Given the description of an element on the screen output the (x, y) to click on. 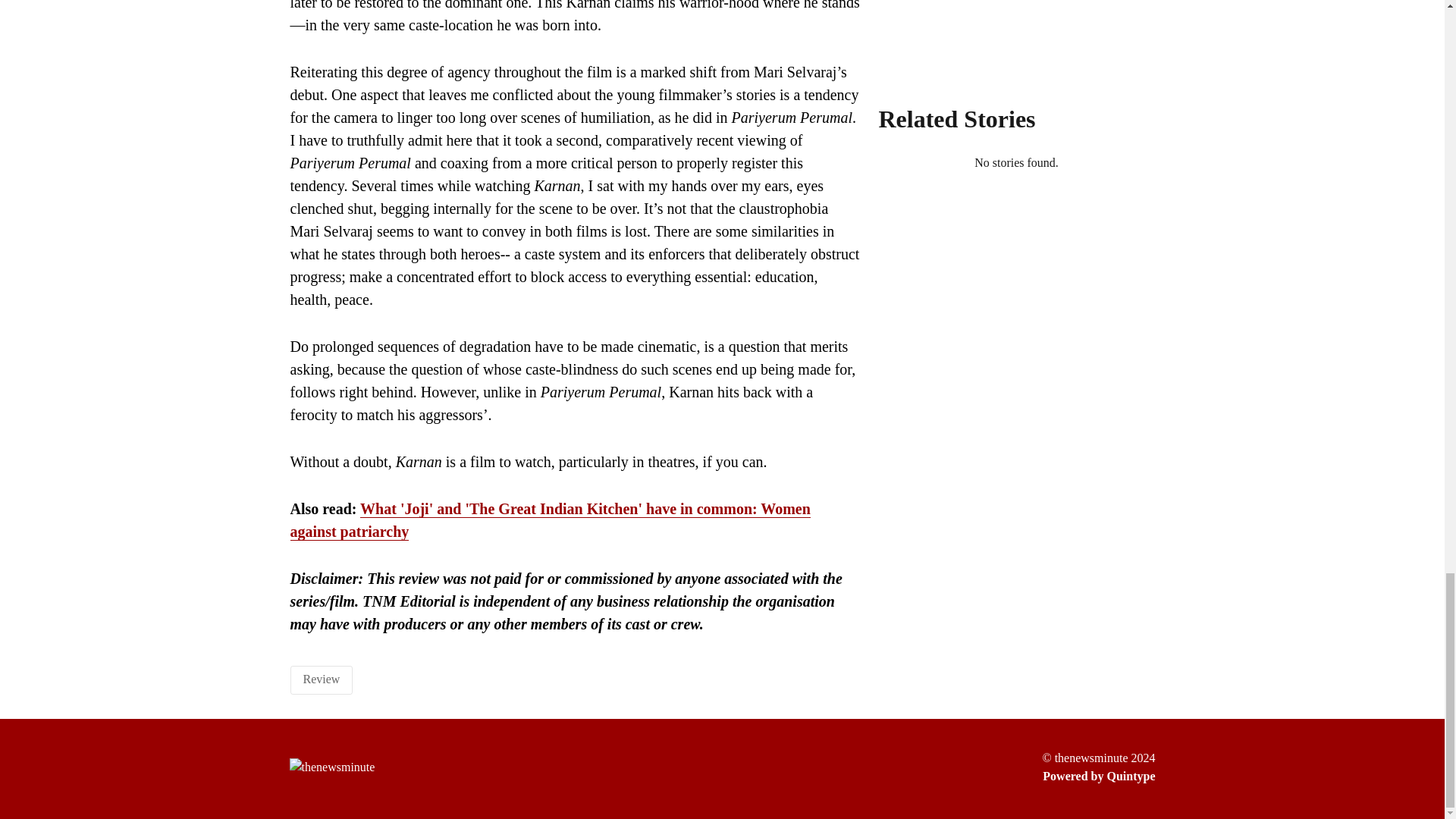
Powered by Quintype (1098, 776)
Review (321, 678)
